Given the description of an element on the screen output the (x, y) to click on. 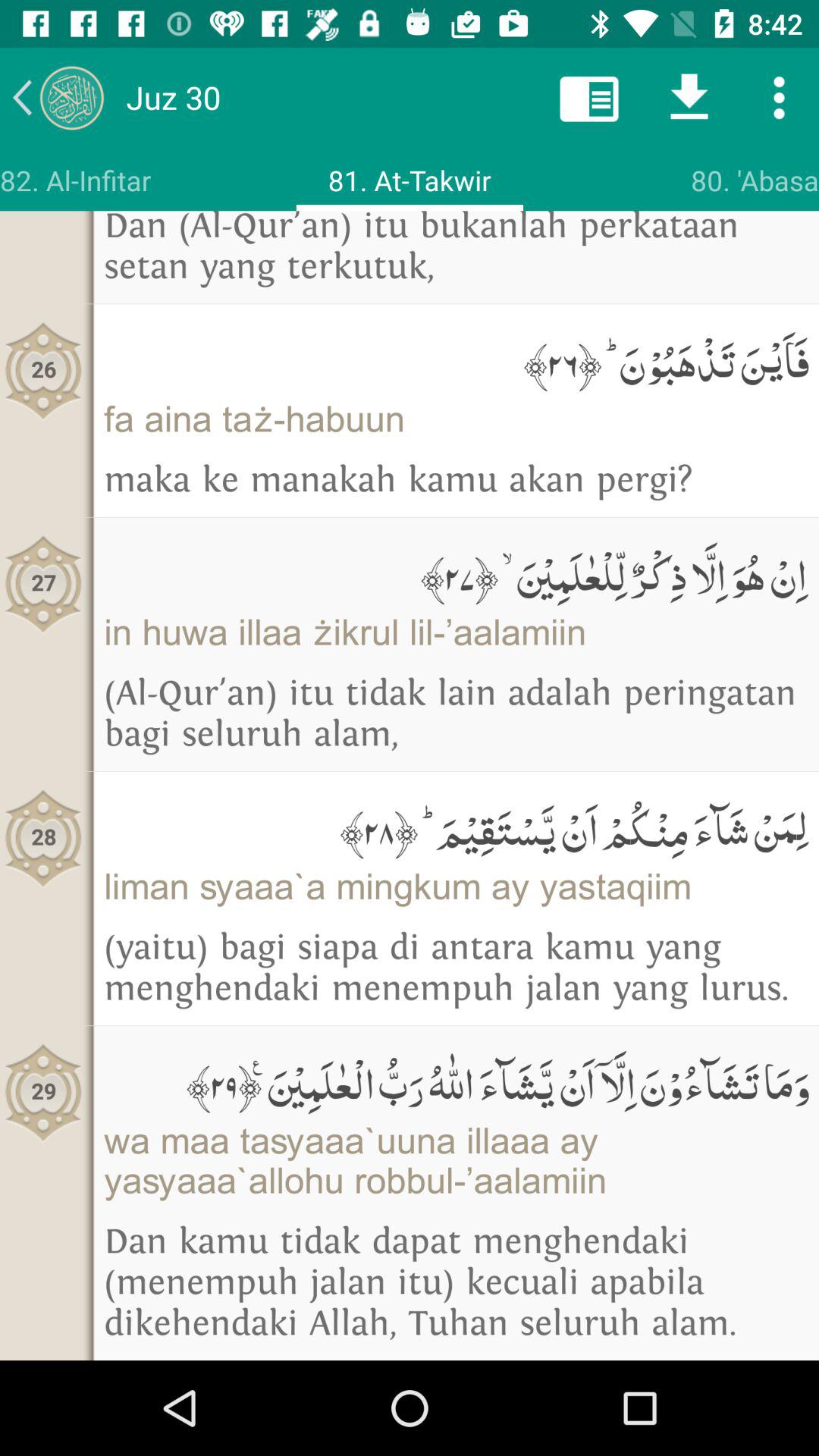
flip until the 28 icon (43, 838)
